Given the description of an element on the screen output the (x, y) to click on. 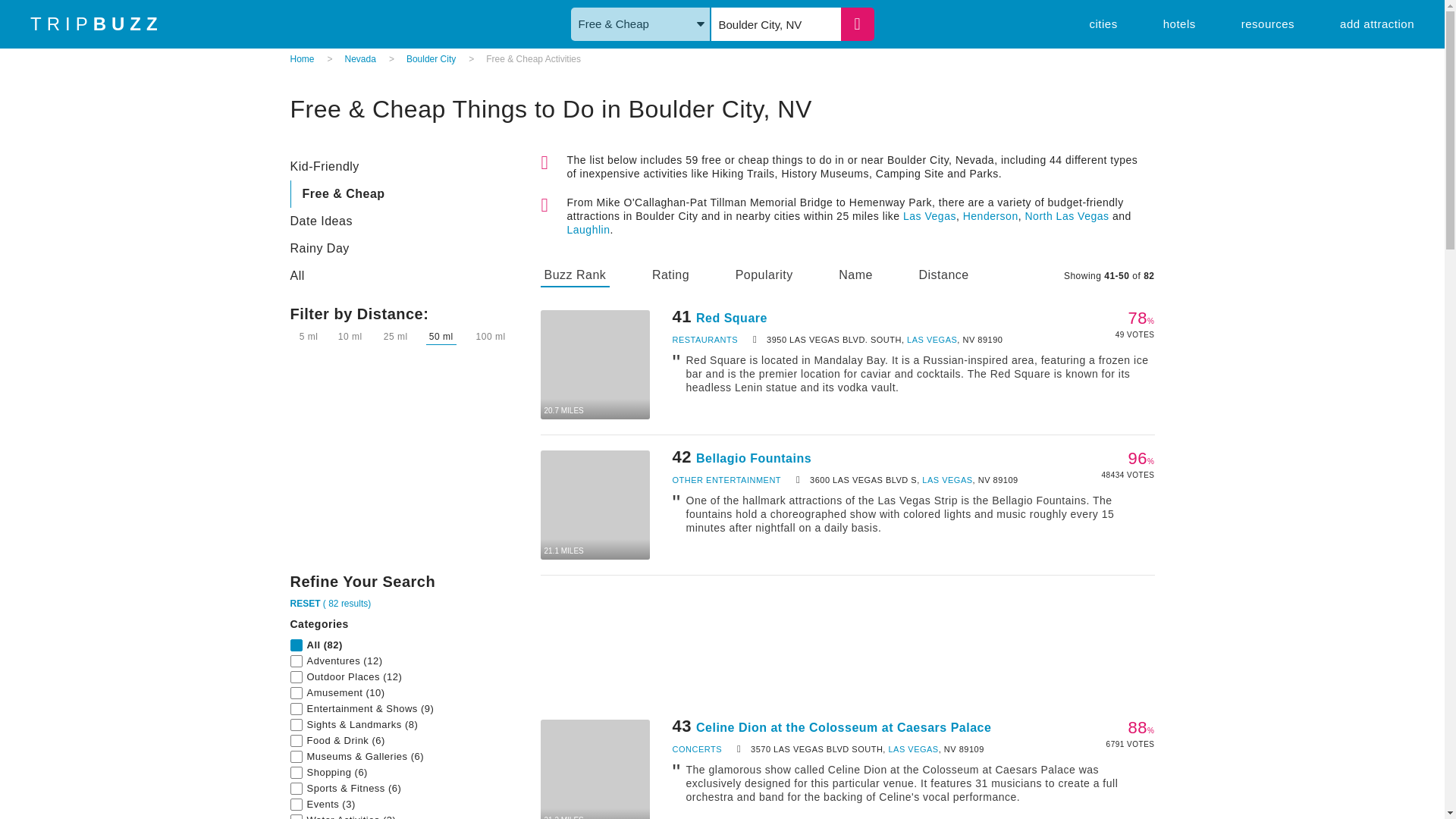
All (402, 275)
20.7 MILES (594, 364)
10 ml (349, 337)
North Las Vegas (1066, 215)
hotels (1179, 23)
Kid-Friendly (402, 166)
Resources (1267, 23)
Home (301, 59)
Laughlin (588, 229)
5 ml (309, 337)
add attraction (1376, 23)
Rating (670, 276)
Henderson (989, 215)
Boulder City (430, 59)
25 ml (395, 337)
